Given the description of an element on the screen output the (x, y) to click on. 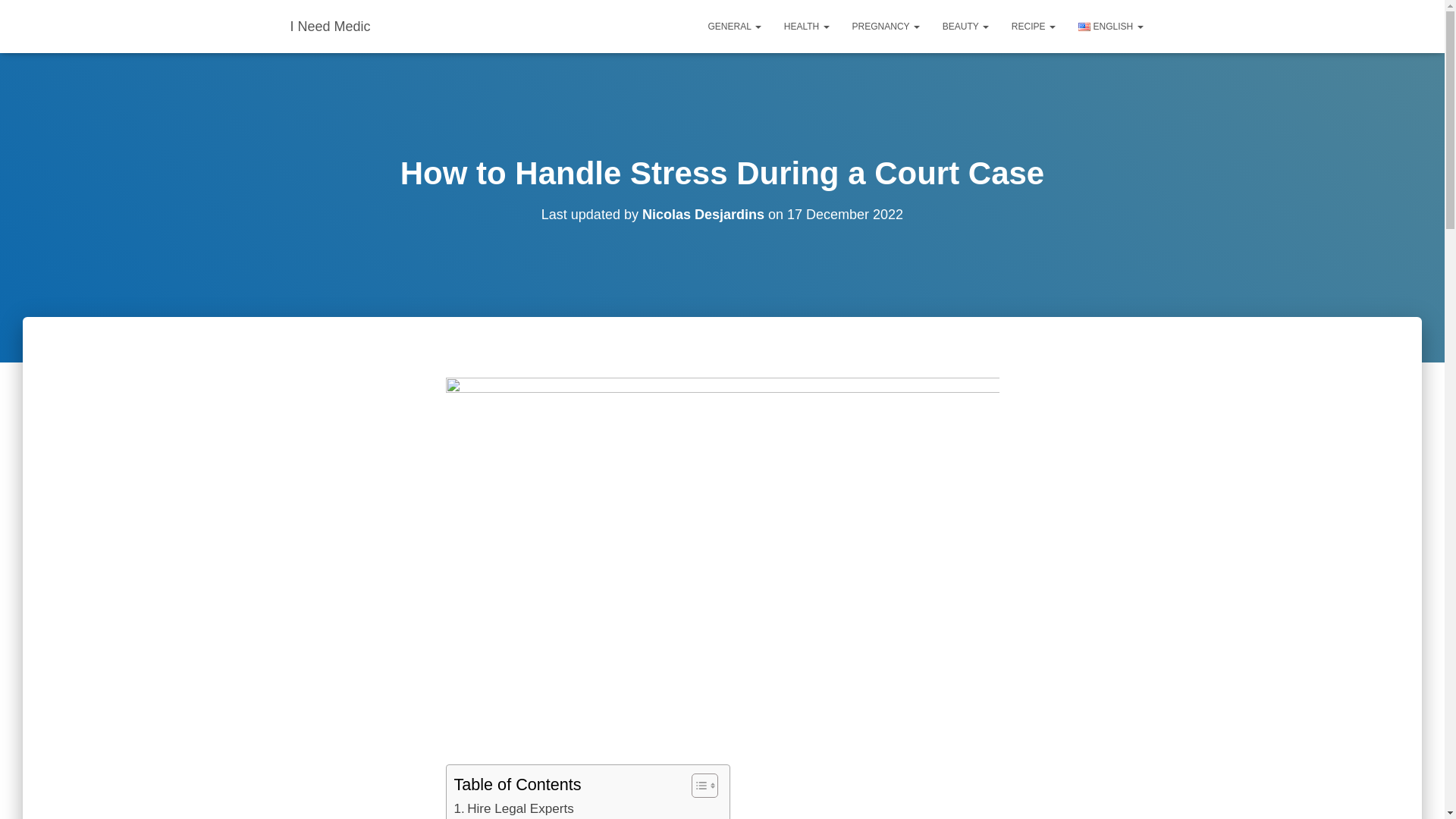
GENERAL (735, 26)
HEALTH (807, 26)
ENGLISH (1110, 26)
BEAUTY (965, 26)
I Need Medic (330, 26)
General (735, 26)
Pregnancy (886, 26)
Beauty (965, 26)
Hire Legal Experts (512, 808)
Health (807, 26)
